Given the description of an element on the screen output the (x, y) to click on. 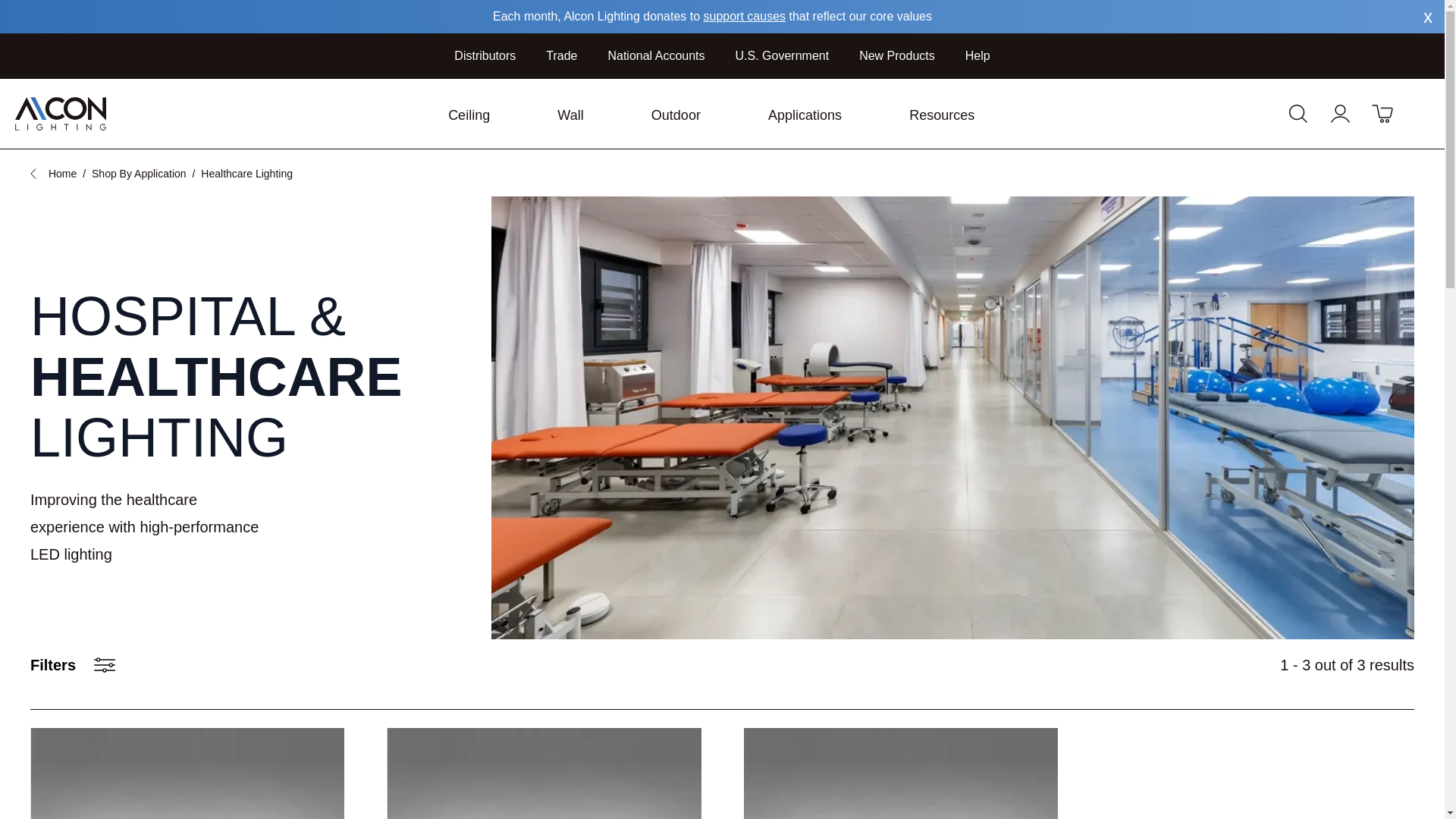
support causes (744, 15)
Alcon Lighting logo horizontal (60, 114)
Antimicrobial Linear UVC Disinfection Light (899, 773)
Trade (561, 55)
U.S. Government (782, 55)
Antimicrobial Recessed UVC Disinfection Light (543, 773)
Go to Home Page (62, 173)
Antimicrobial Surface-Mounted UVC Disinfection Light (186, 773)
National Accounts (655, 55)
Distributors (484, 55)
Alcon Lighting logo horizontal (99, 114)
support causes (744, 15)
Help (977, 55)
New Products (896, 55)
x (1427, 14)
